Given the description of an element on the screen output the (x, y) to click on. 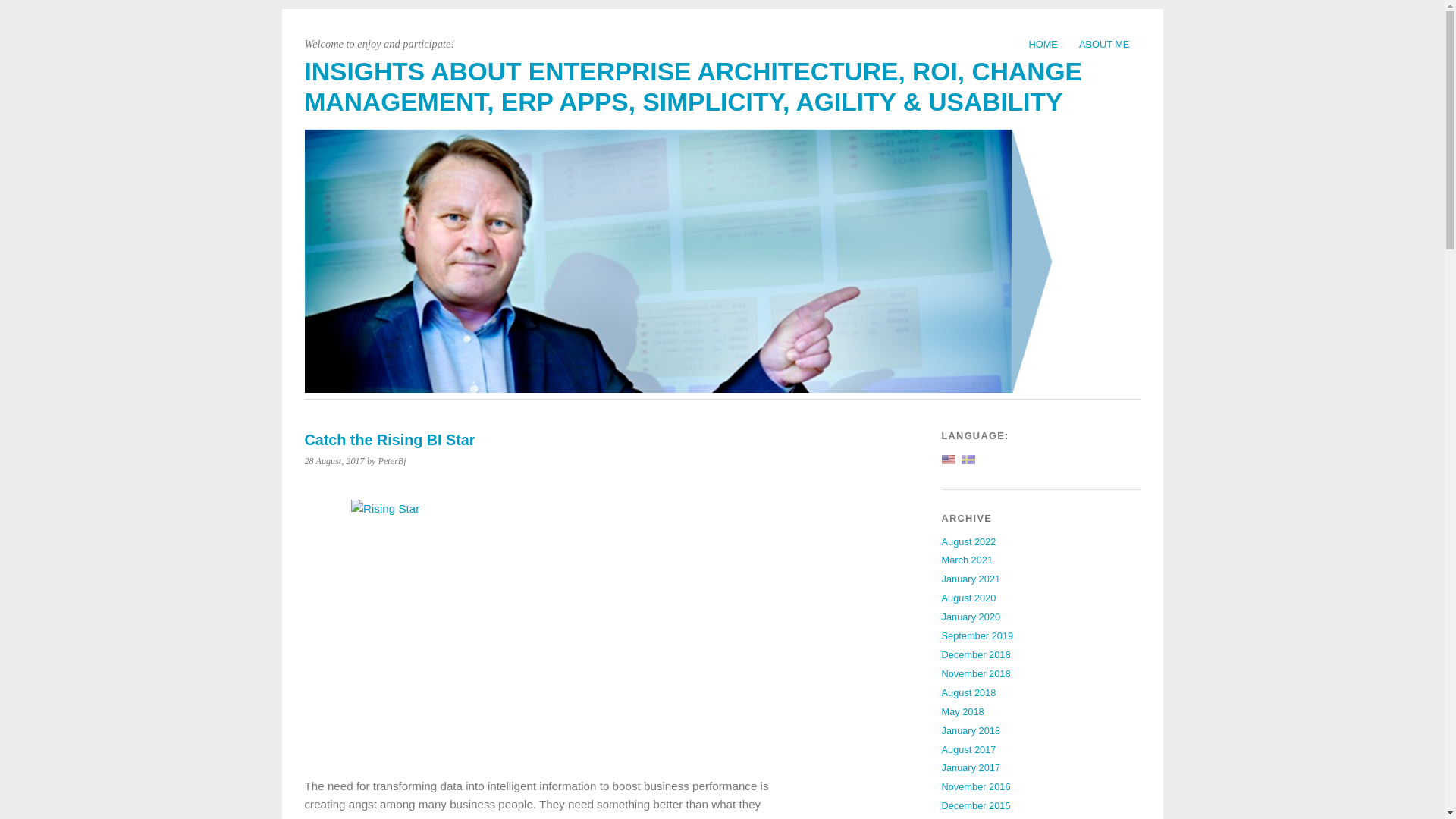
December 2018 (976, 654)
January 2021 (971, 578)
November 2018 (976, 673)
September 2019 (977, 635)
May 2018 (963, 711)
January 2020 (971, 616)
August 2017 (968, 748)
March 2021 (967, 559)
August 2020 (968, 597)
HOME (1042, 43)
ABOUT ME (1104, 43)
December 2015 (976, 805)
November 2016 (976, 786)
January 2017 (971, 767)
August 2022 (968, 541)
